Given the description of an element on the screen output the (x, y) to click on. 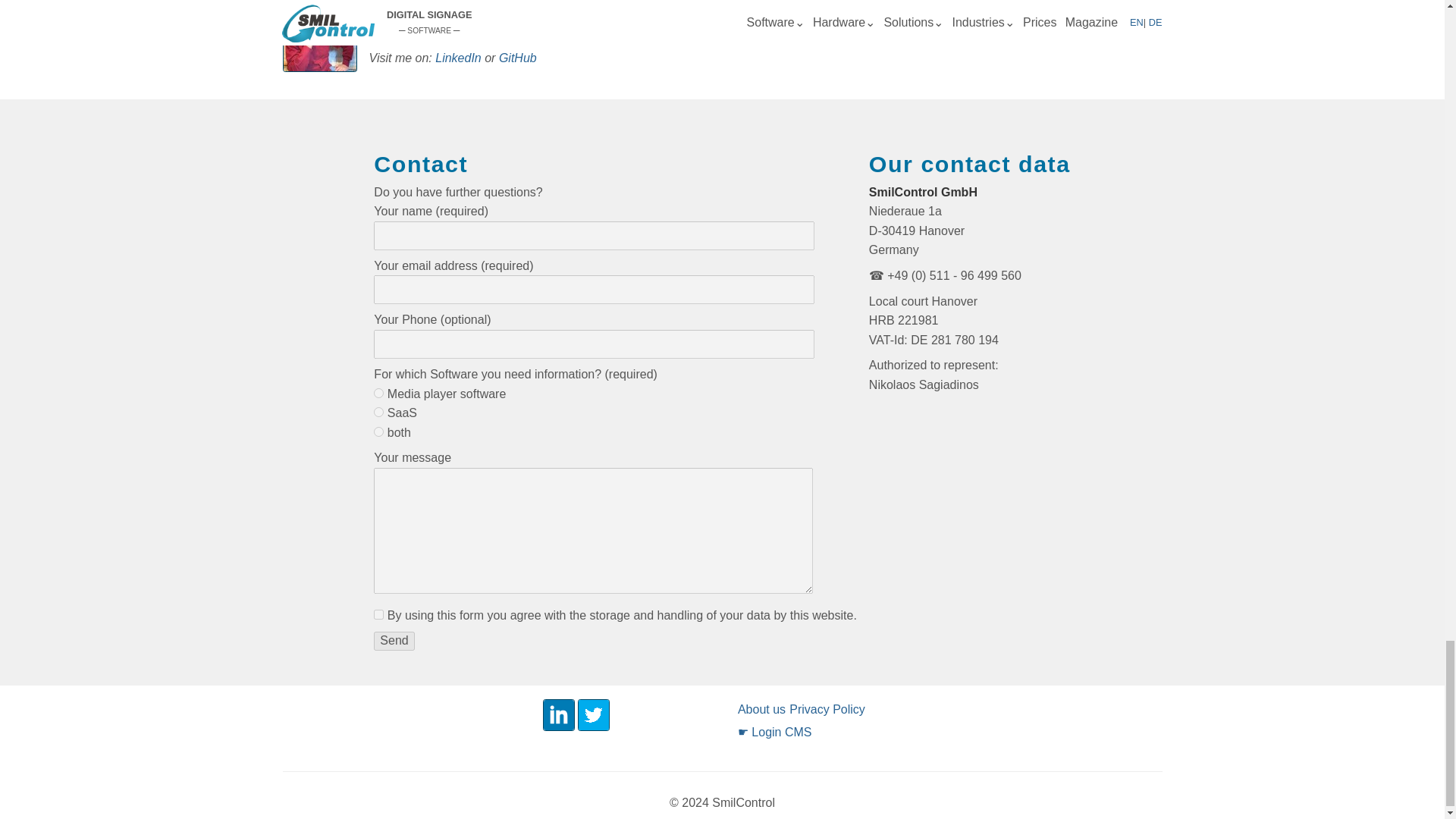
1 (379, 614)
Visit me on Github (518, 57)
both (379, 431)
Send (393, 640)
saas (379, 411)
player (379, 393)
Visit me on LinkedIn (458, 57)
